Given the description of an element on the screen output the (x, y) to click on. 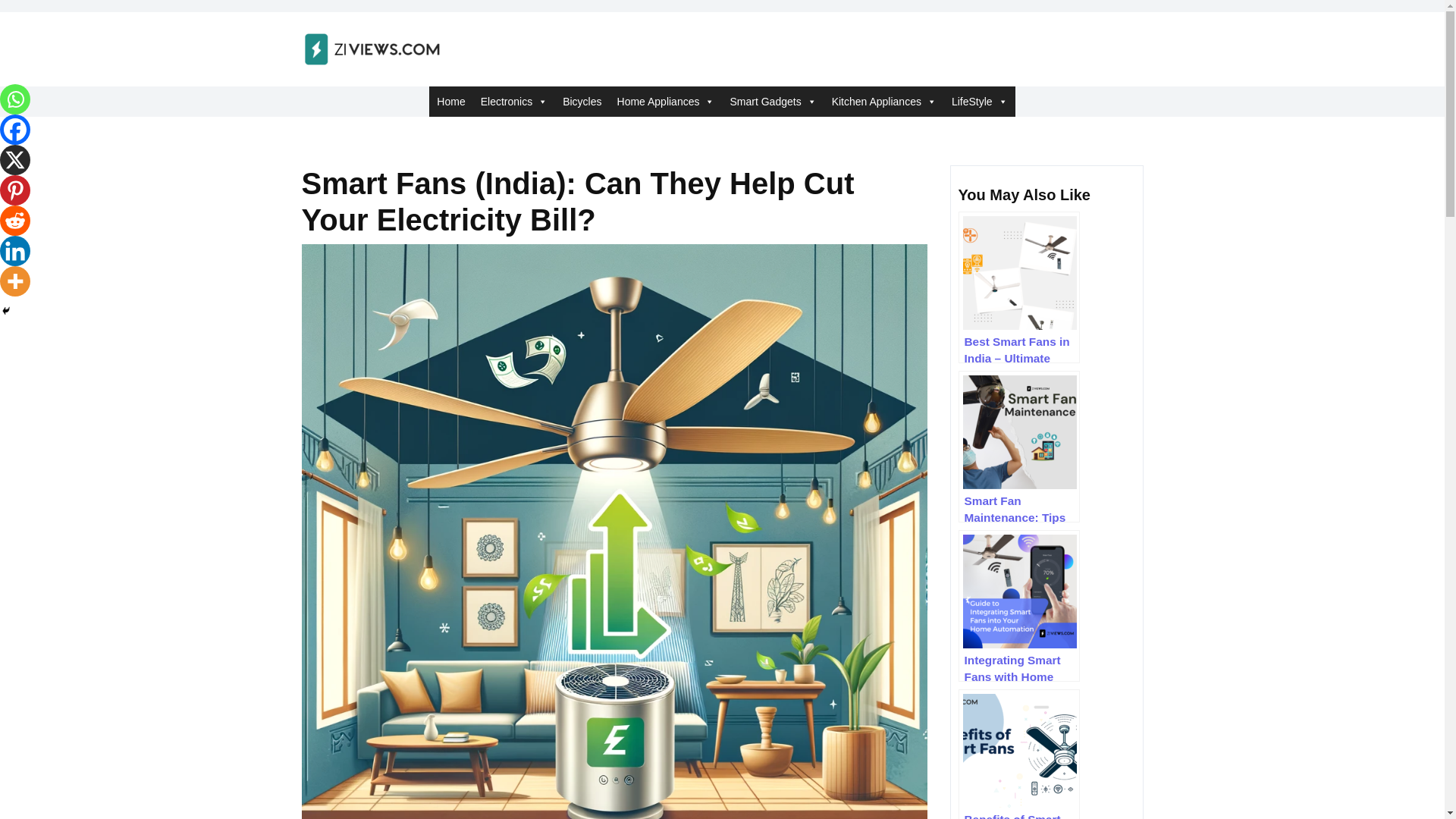
Pinterest (15, 190)
Reddit (15, 220)
X (15, 159)
Facebook (15, 129)
Electronics (513, 101)
Home Appliances (666, 101)
Kitchen Appliances (883, 101)
Home (450, 101)
Smart Gadgets (773, 101)
Whatsapp (15, 99)
